Given the description of an element on the screen output the (x, y) to click on. 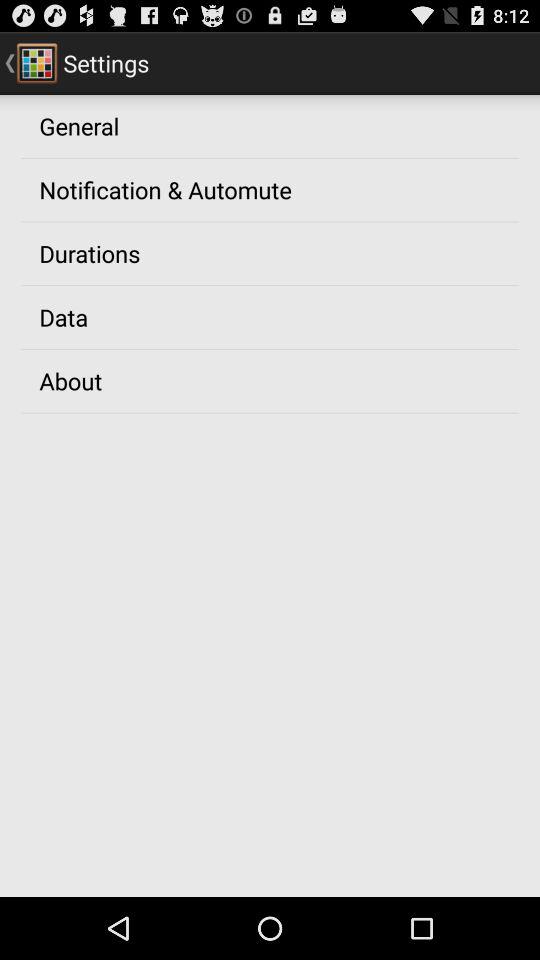
click app above about item (63, 317)
